Given the description of an element on the screen output the (x, y) to click on. 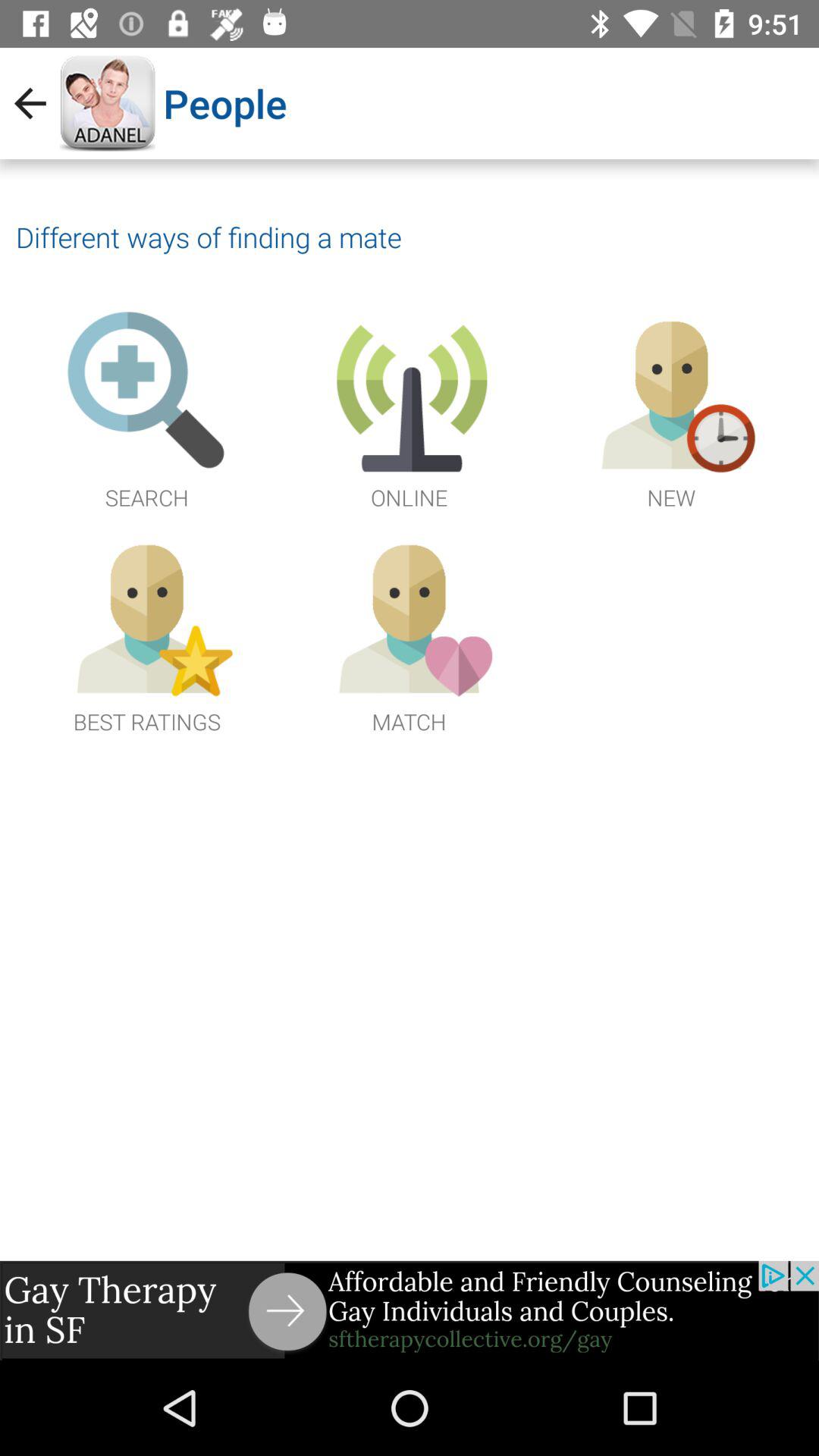
go to advertisement (409, 1310)
